Given the description of an element on the screen output the (x, y) to click on. 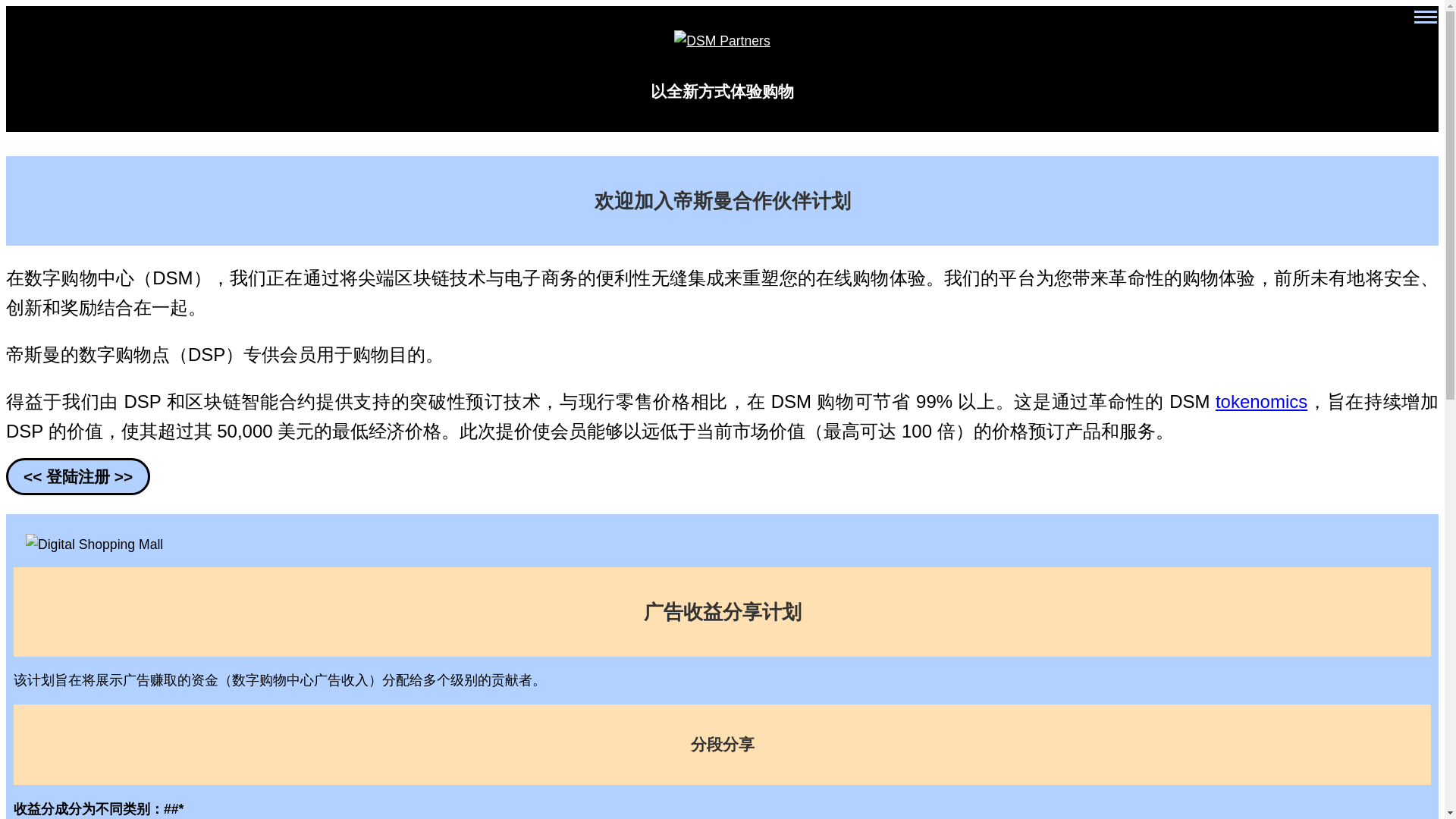
tokenomics (1261, 401)
